Given the description of an element on the screen output the (x, y) to click on. 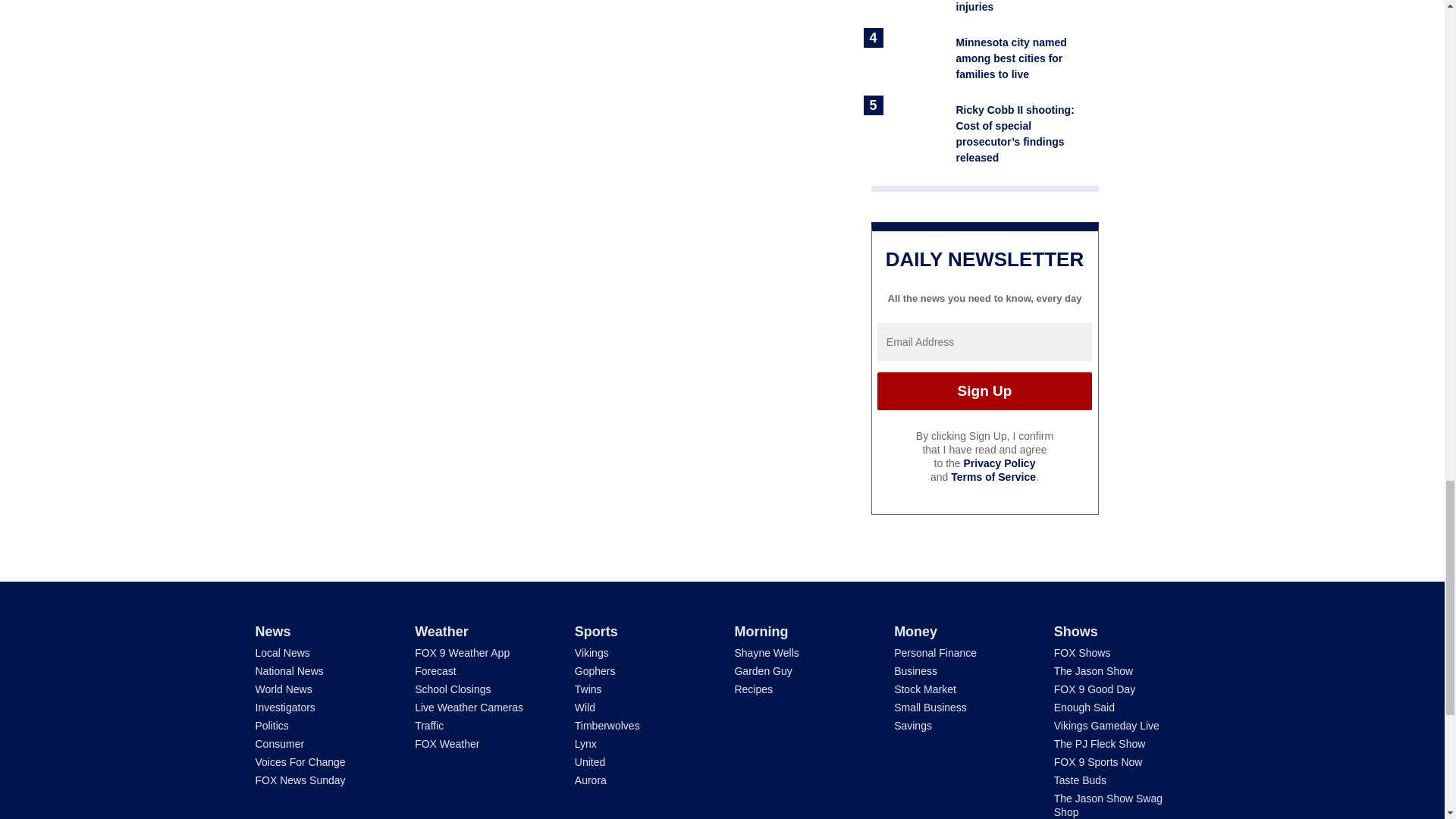
Sign Up (984, 391)
